Given the description of an element on the screen output the (x, y) to click on. 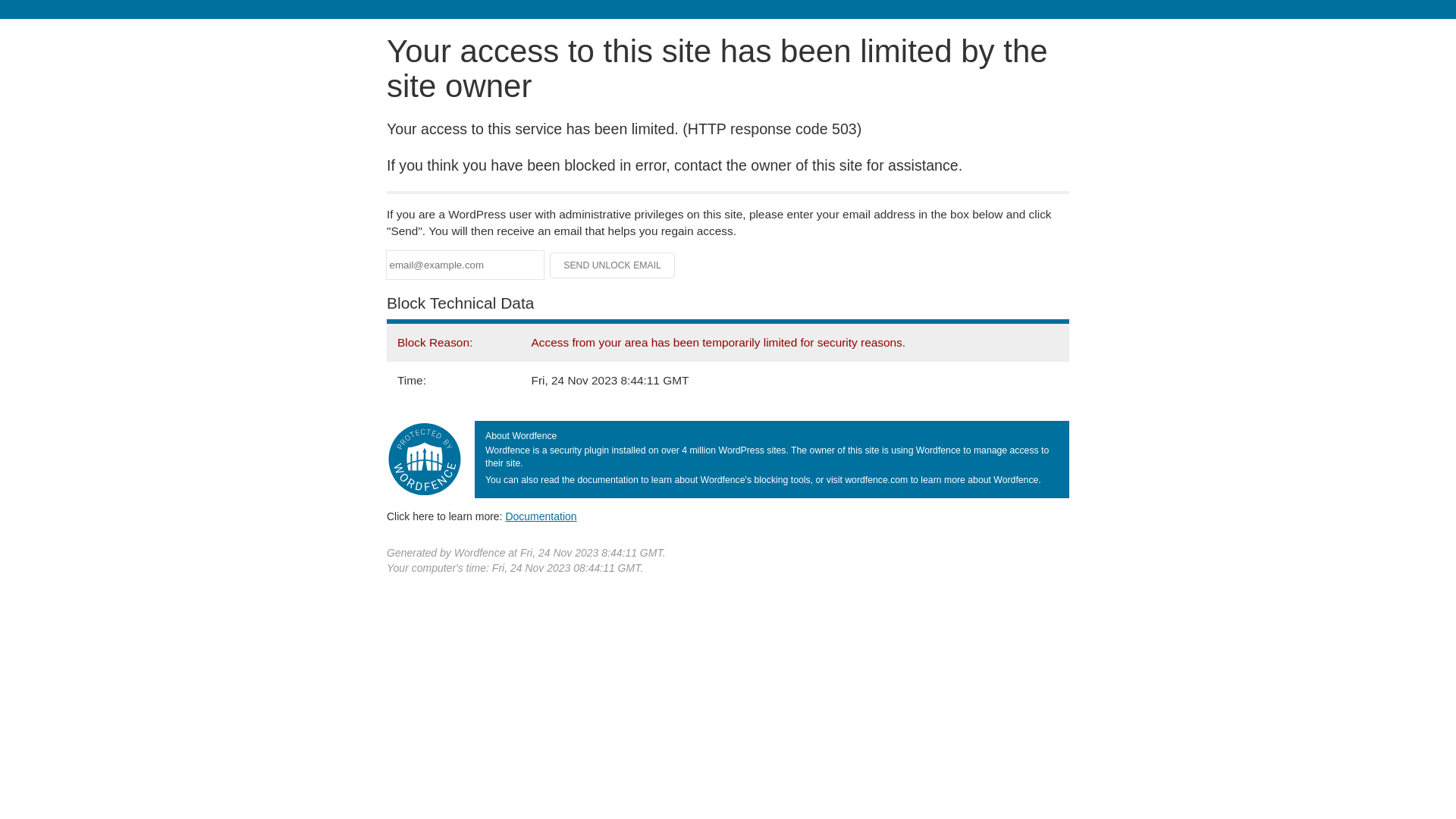
Send Unlock Email Element type: text (612, 265)
Documentation Element type: text (540, 516)
